Given the description of an element on the screen output the (x, y) to click on. 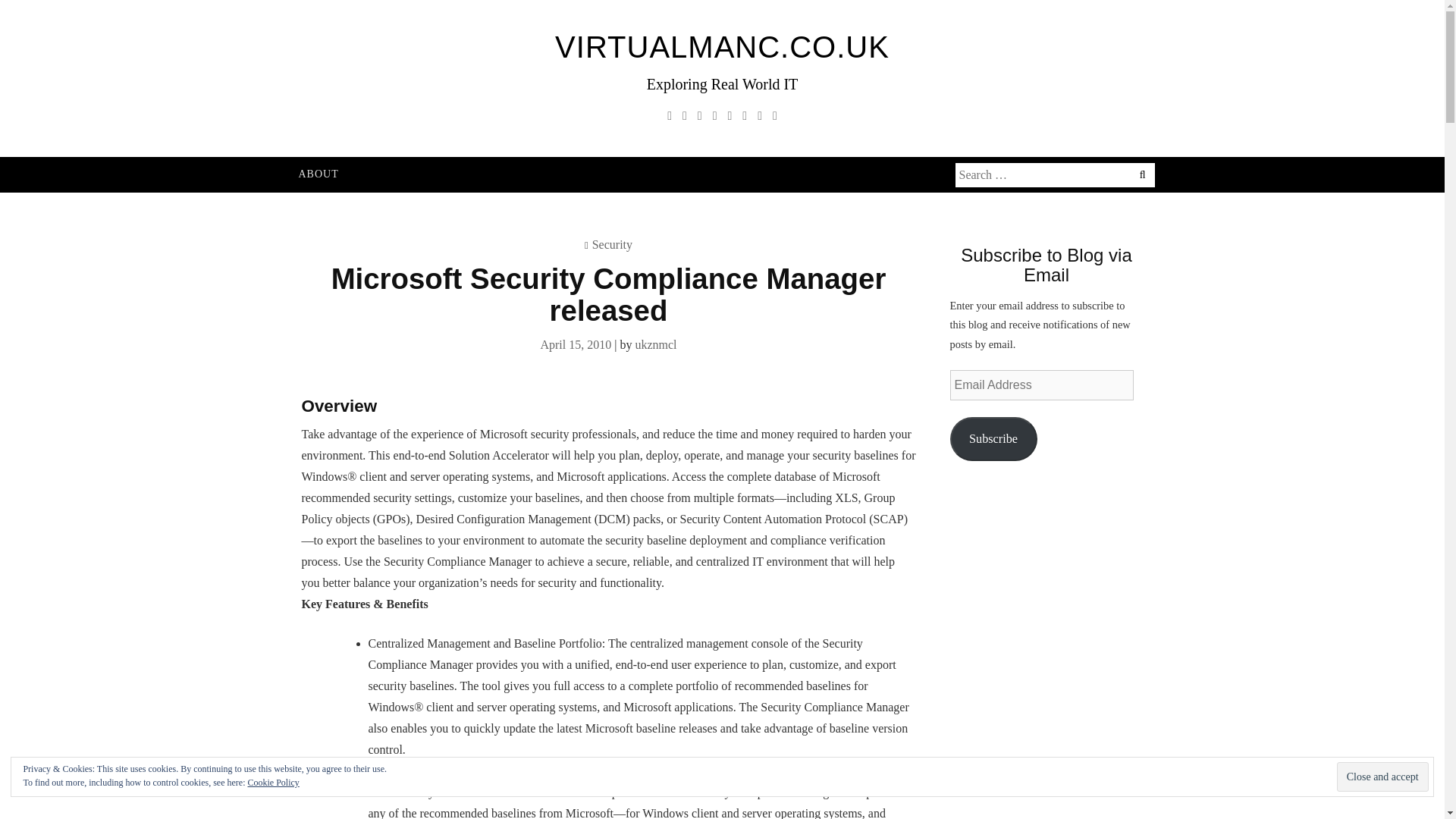
Search (22, 12)
VIRTUALMANC.CO.UK (721, 46)
ABOUT (317, 174)
April 15, 2010 (575, 344)
Security (611, 244)
ukznmcl (655, 344)
Subscribe (992, 438)
Search (99, 12)
Close and accept (1382, 776)
